Given the description of an element on the screen output the (x, y) to click on. 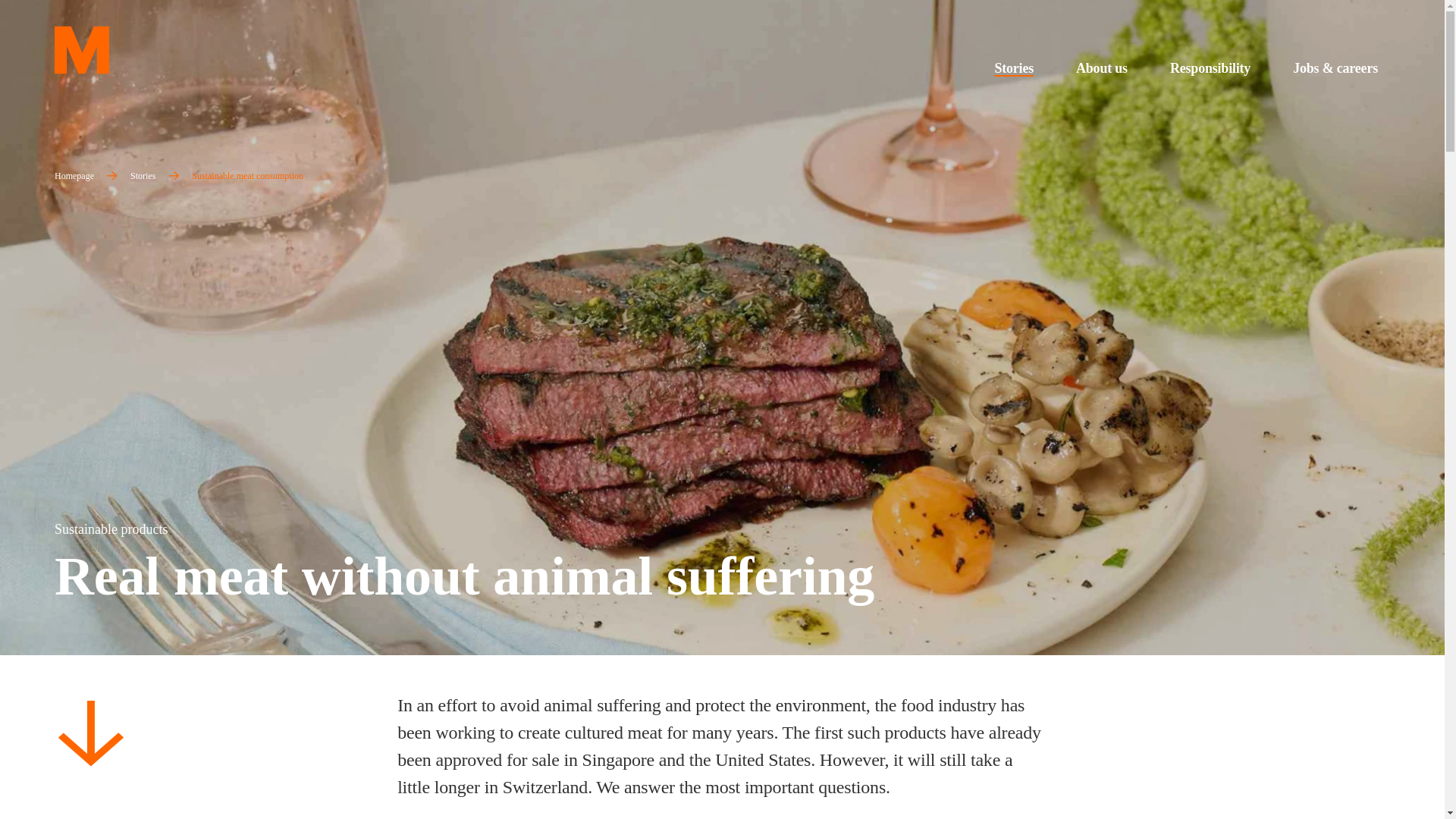
Stories (1013, 68)
Stories (143, 175)
Homepage (74, 175)
Responsibility (1209, 68)
HomepageStoriesSustainable meat consumption (188, 174)
About us (1102, 68)
